Given the description of an element on the screen output the (x, y) to click on. 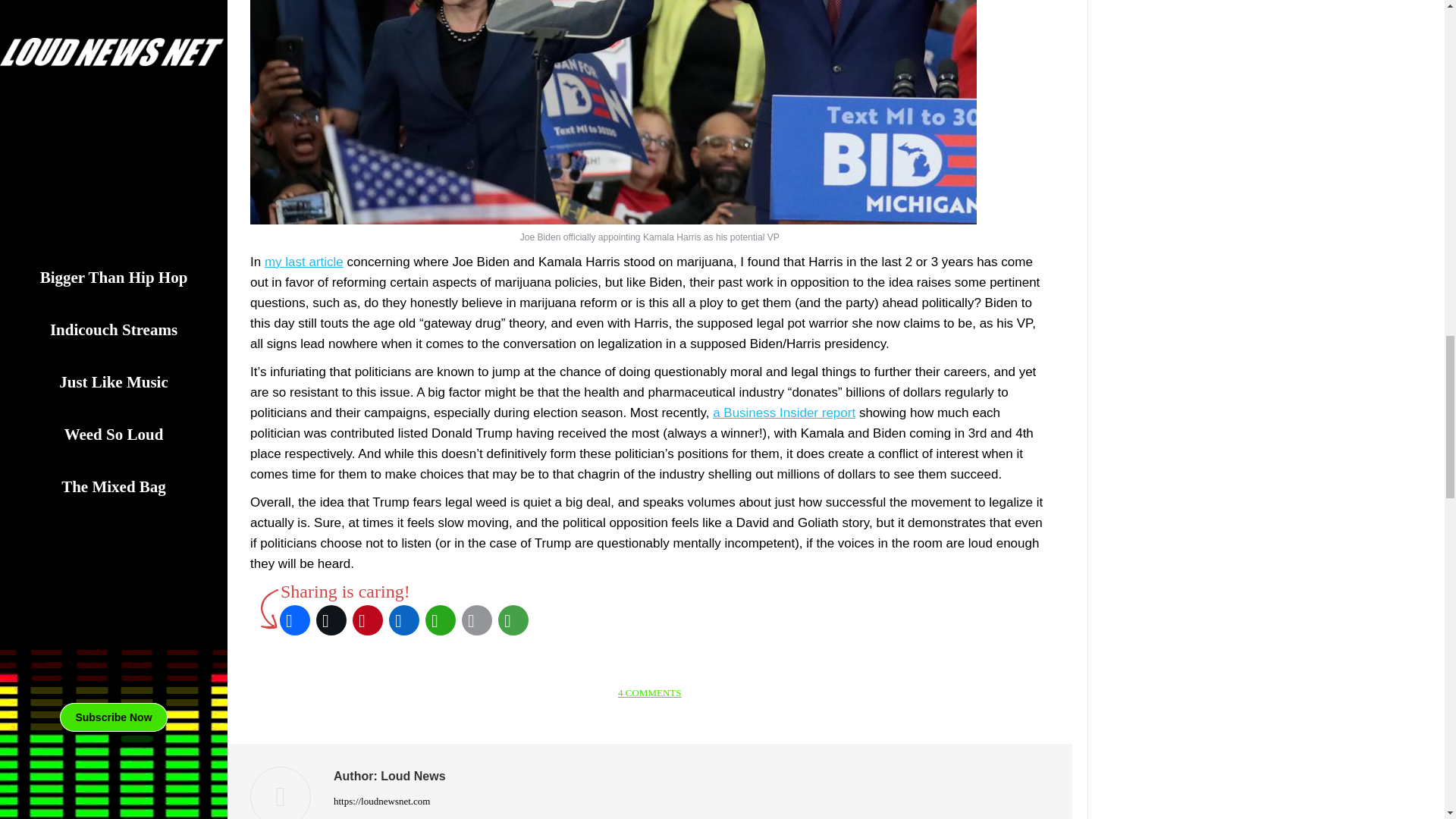
a Business Insider report (784, 412)
my last article (303, 261)
